Given the description of an element on the screen output the (x, y) to click on. 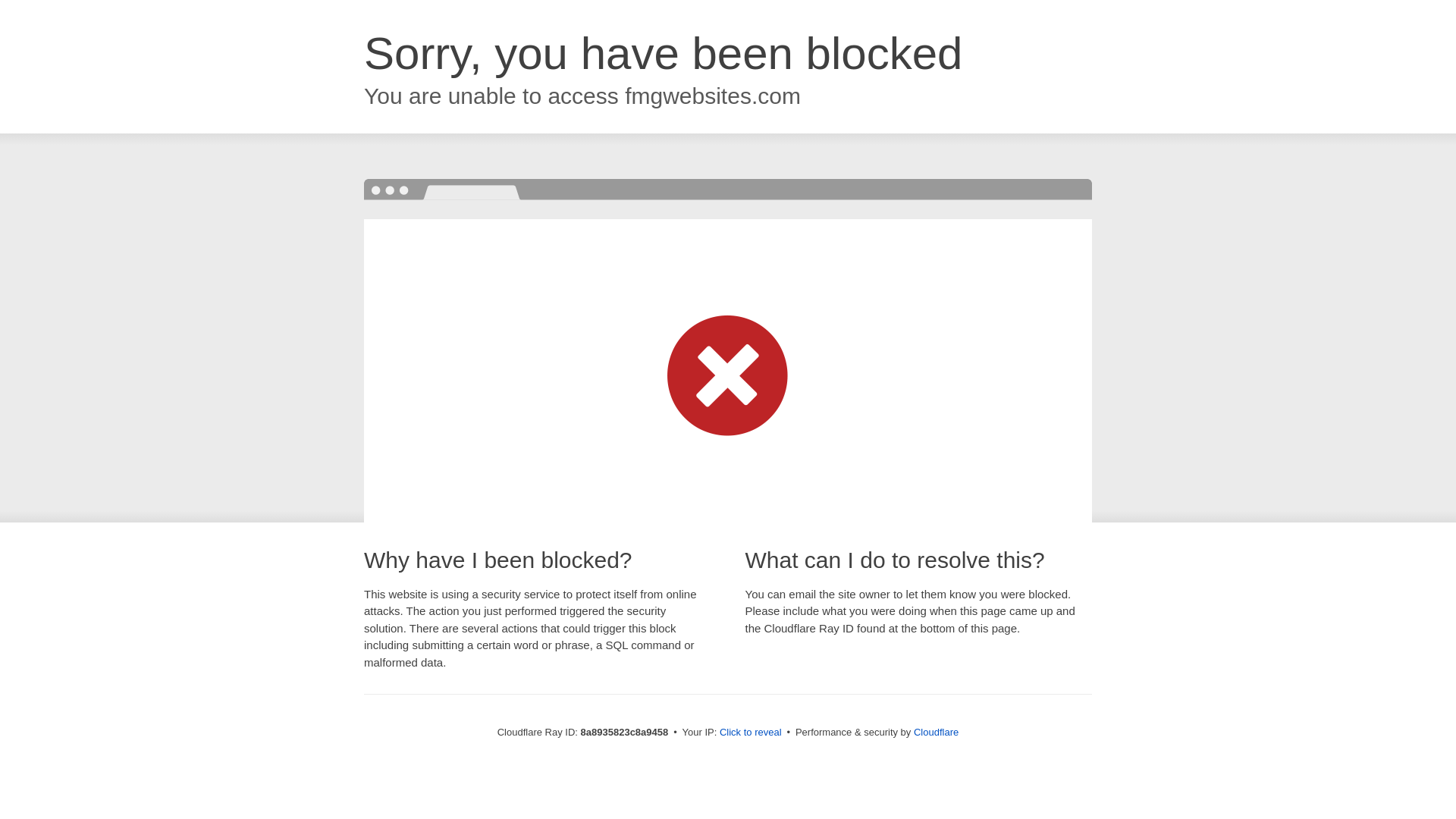
Cloudflare (936, 731)
Click to reveal (750, 732)
